Given the description of an element on the screen output the (x, y) to click on. 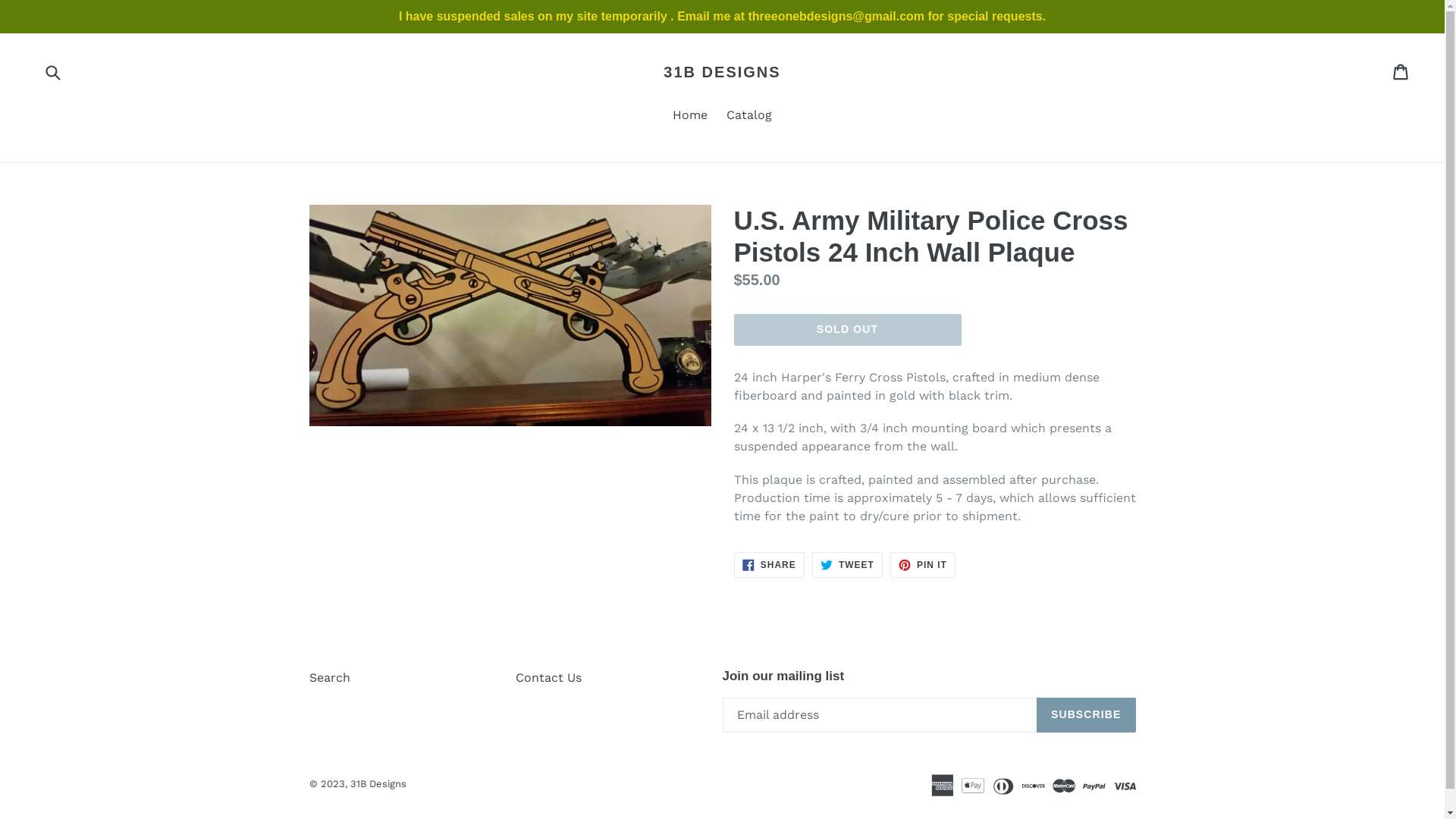
Cart
Cart Element type: text (1401, 71)
SHARE
SHARE ON FACEBOOK Element type: text (769, 564)
Contact Us Element type: text (548, 677)
SUBSCRIBE Element type: text (1085, 714)
Home Element type: text (690, 116)
TWEET
TWEET ON TWITTER Element type: text (847, 564)
Catalog Element type: text (748, 116)
31B Designs Element type: text (378, 783)
Submit Element type: text (51, 71)
31B DESIGNS Element type: text (721, 71)
SOLD OUT Element type: text (847, 329)
PIN IT
PIN ON PINTEREST Element type: text (922, 564)
Search Element type: text (329, 677)
